Given the description of an element on the screen output the (x, y) to click on. 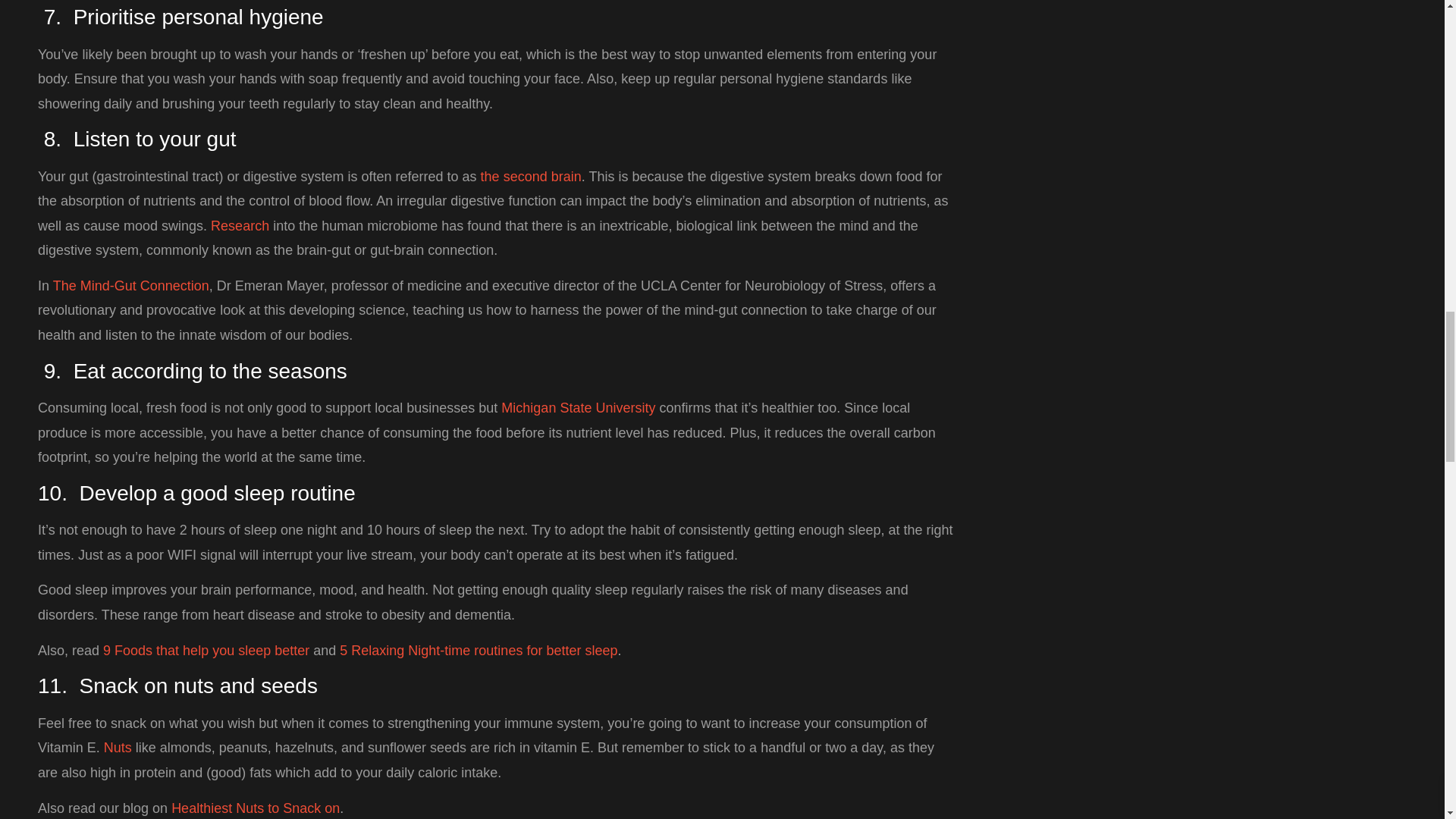
9 Foods that help you sleep better (205, 650)
The Mind-Gut Connection (130, 285)
5 Relaxing Night time routines for better sleep (478, 650)
Healthiest Nuts to Snack on (255, 807)
5 Relaxing Night-time routines for better sleep (478, 650)
Michigan State University (577, 407)
Healthiest nuts to snack on (255, 807)
the second brain (530, 176)
Research (240, 225)
The Mind-Gut Connection book (130, 285)
Nuts (117, 747)
9 Foods that help you sleep better (205, 650)
